Given the description of an element on the screen output the (x, y) to click on. 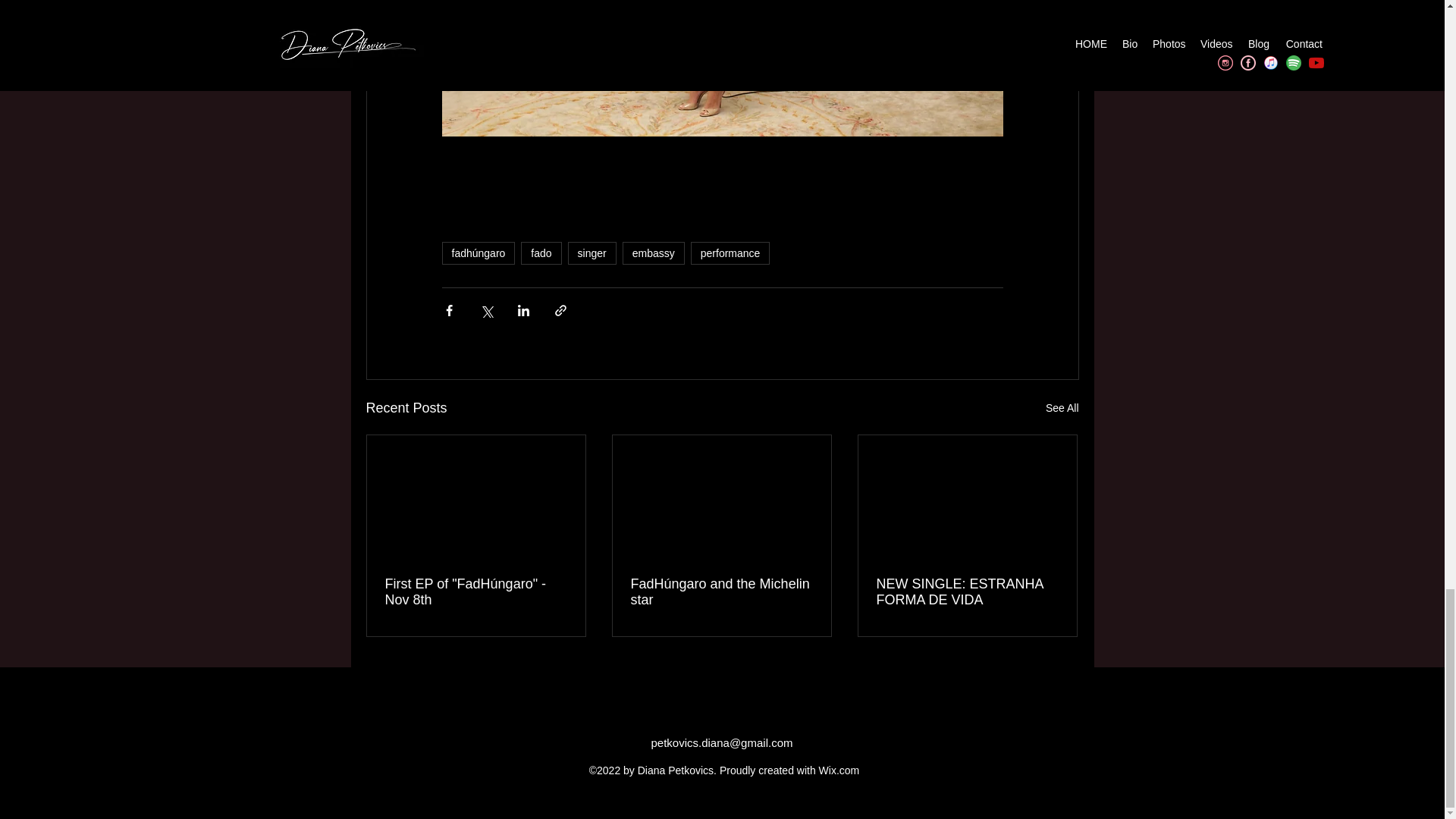
embassy (653, 252)
See All (1061, 408)
singer (591, 252)
NEW SINGLE: ESTRANHA FORMA DE VIDA (967, 592)
performance (730, 252)
fado (540, 252)
